Given the description of an element on the screen output the (x, y) to click on. 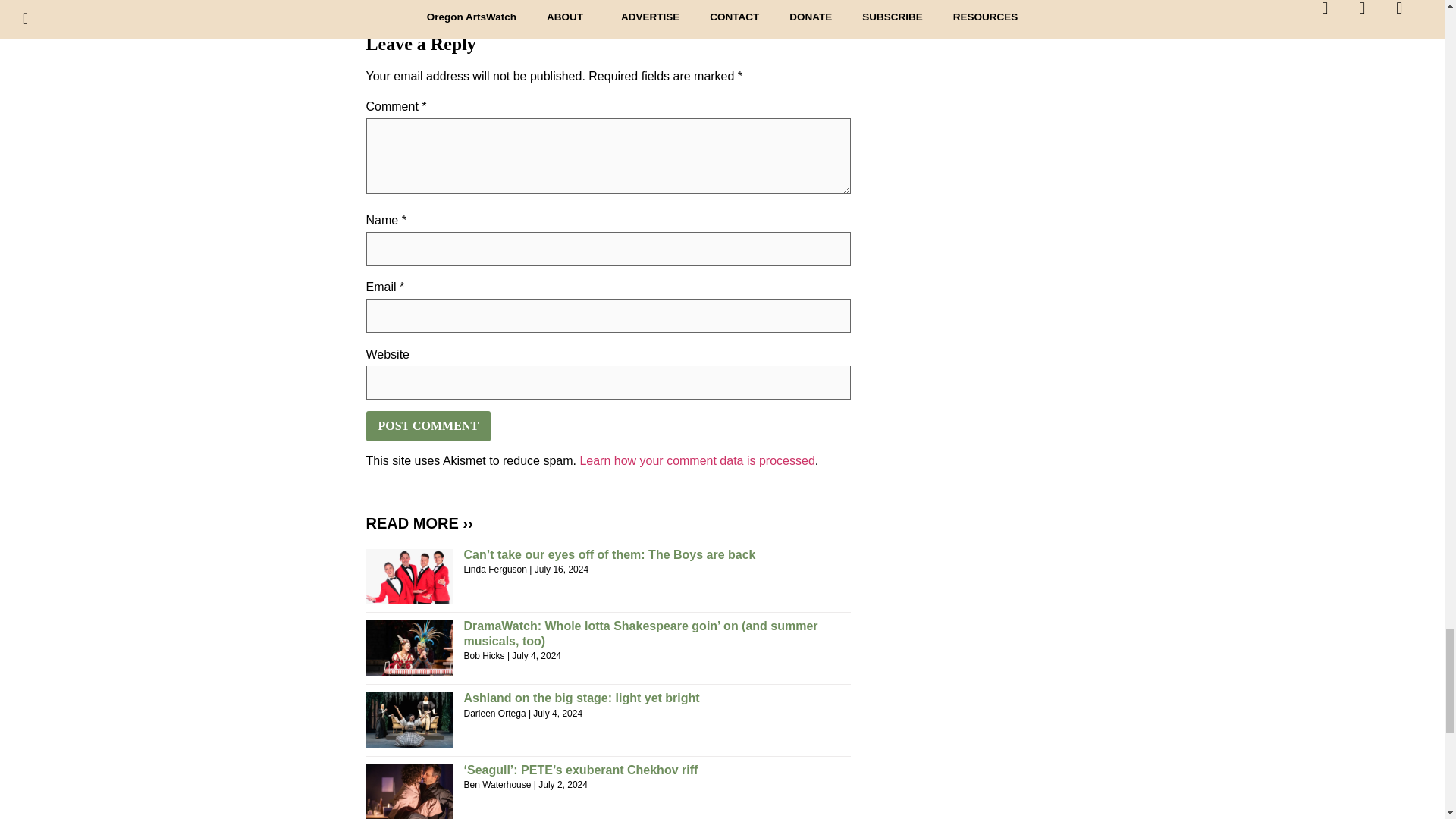
Post Comment (427, 426)
